Given the description of an element on the screen output the (x, y) to click on. 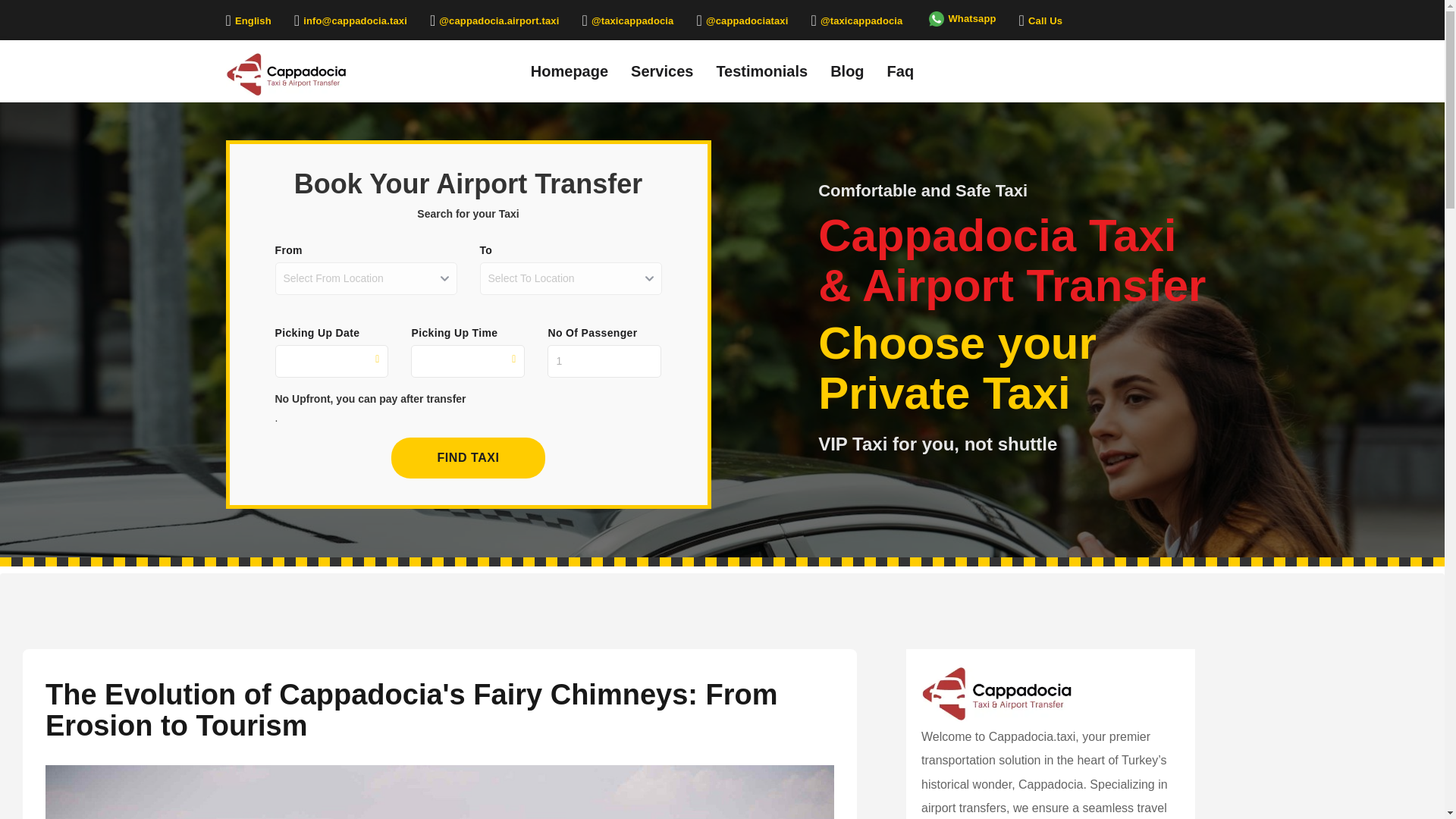
Services (662, 70)
English (248, 20)
1 (604, 360)
Call Us (1040, 20)
Blog (846, 70)
FIND TAXI (467, 457)
Homepage (569, 70)
Whatsapp (960, 18)
Testimonials (761, 70)
